Given the description of an element on the screen output the (x, y) to click on. 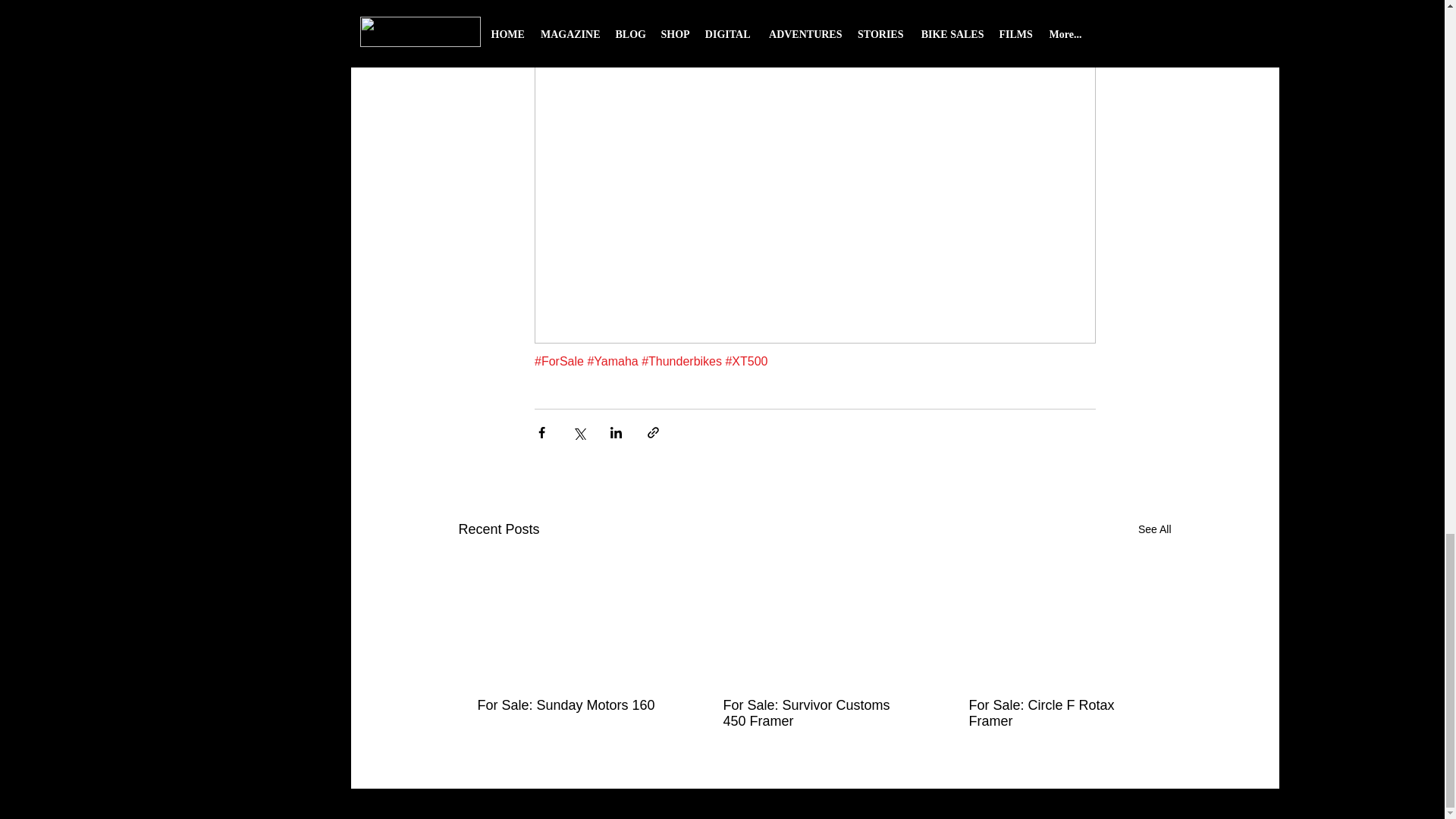
For Sale: Circle F Rotax Framer (1060, 713)
For Sale: Survivor Customs 450 Framer (814, 713)
See All (1155, 529)
For Sale: Sunday Motors 160 (568, 705)
